Given the description of an element on the screen output the (x, y) to click on. 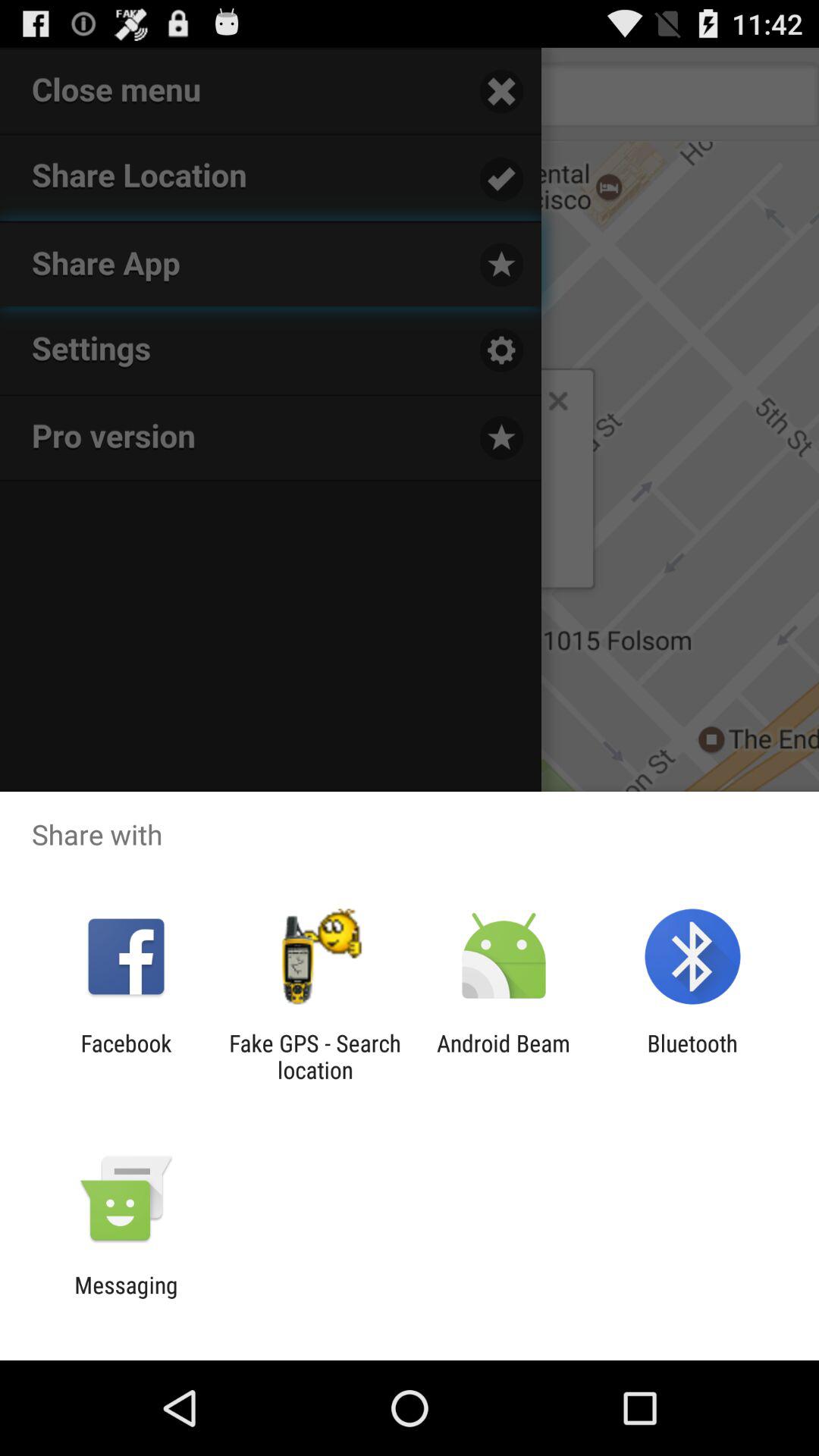
flip until fake gps search (314, 1056)
